Given the description of an element on the screen output the (x, y) to click on. 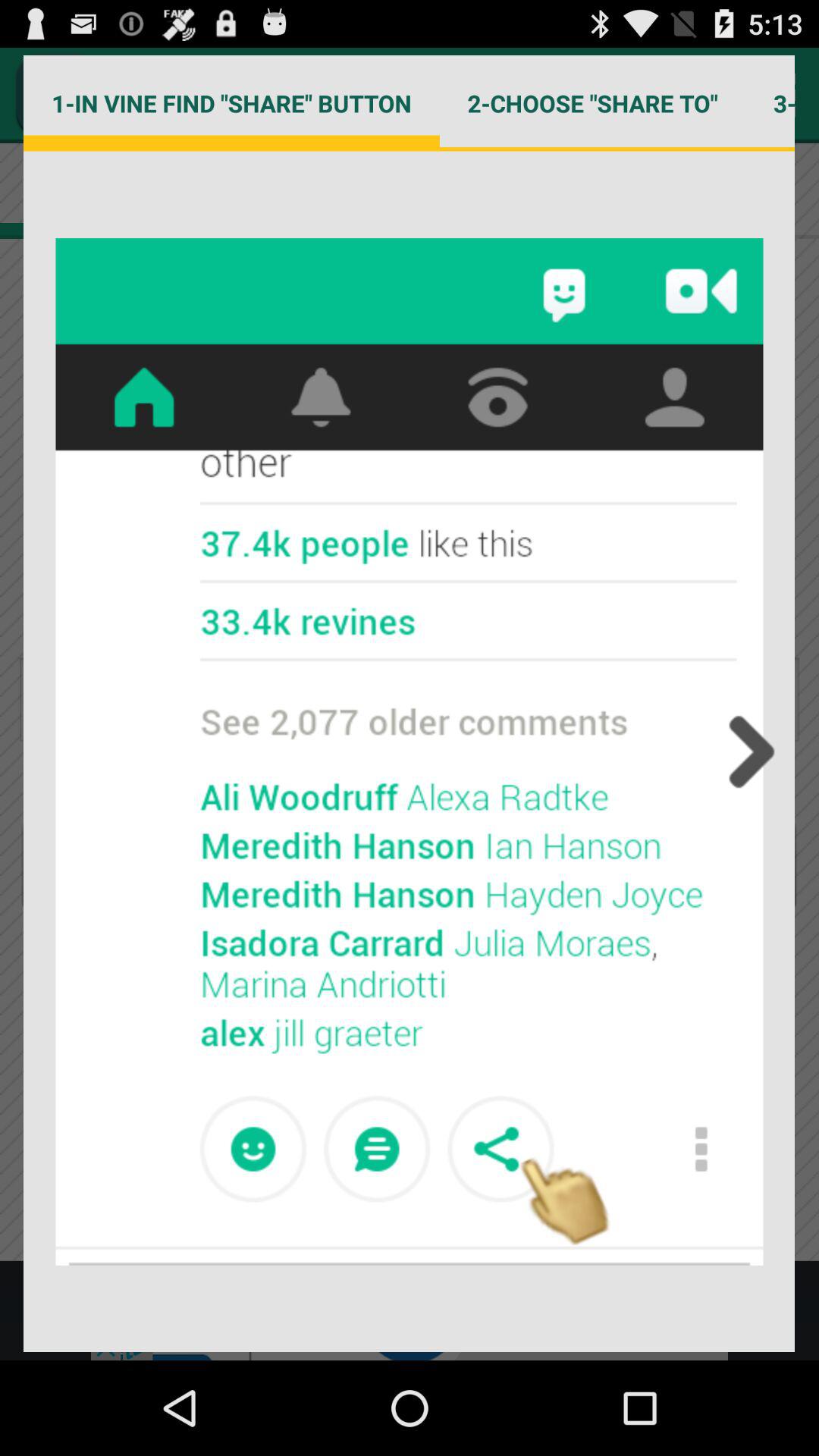
select the app next to the 2 choose share (231, 103)
